Given the description of an element on the screen output the (x, y) to click on. 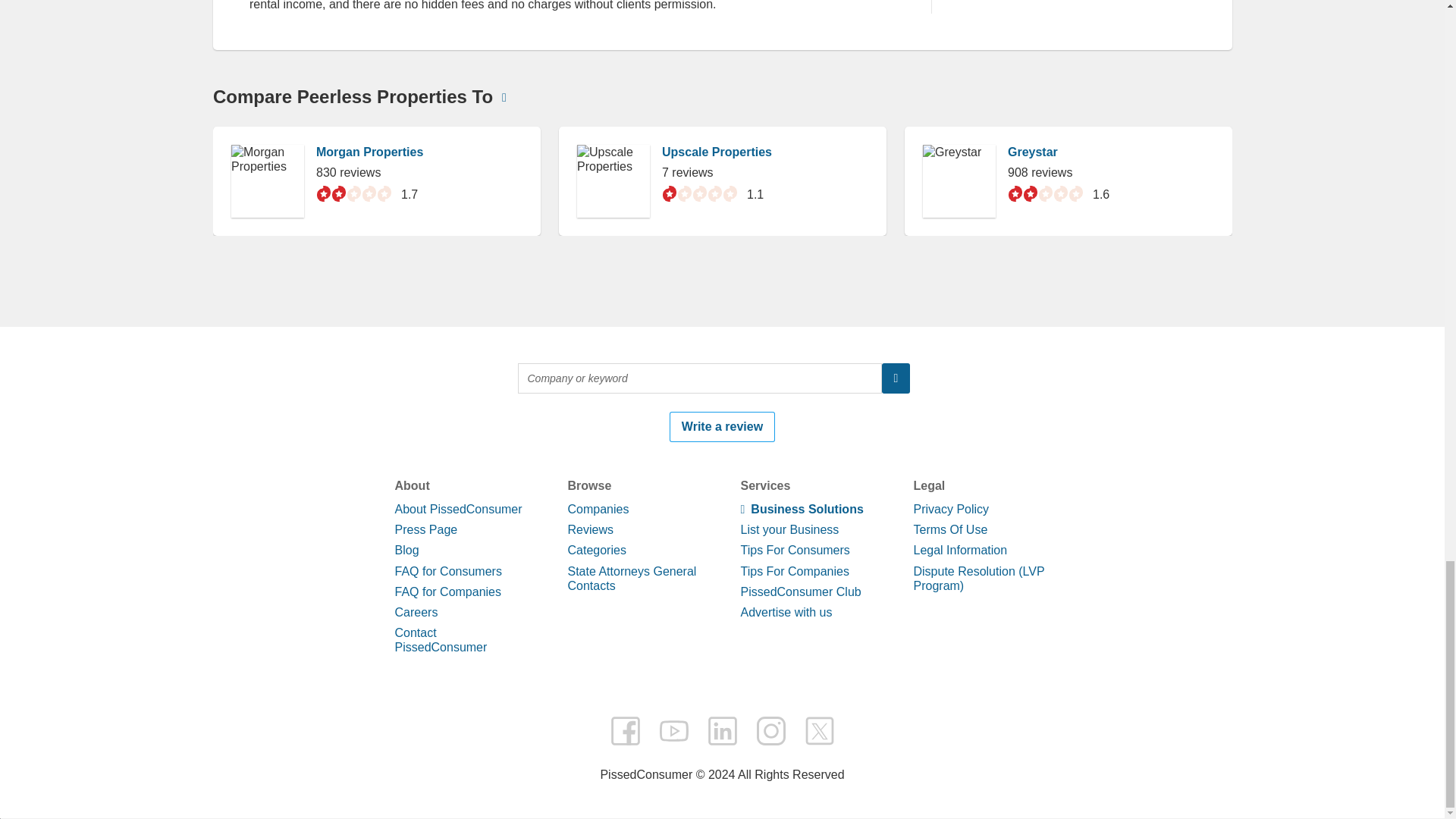
FAQ for Companies (447, 591)
Terms Of Use (949, 529)
Legal Information (959, 549)
State Attorneys General Contacts (631, 577)
Upscale Properties (716, 151)
Advertise with us (785, 612)
PissedConsumer Club (799, 591)
Privacy Policy (950, 508)
Careers (416, 612)
Blog (406, 549)
